Given the description of an element on the screen output the (x, y) to click on. 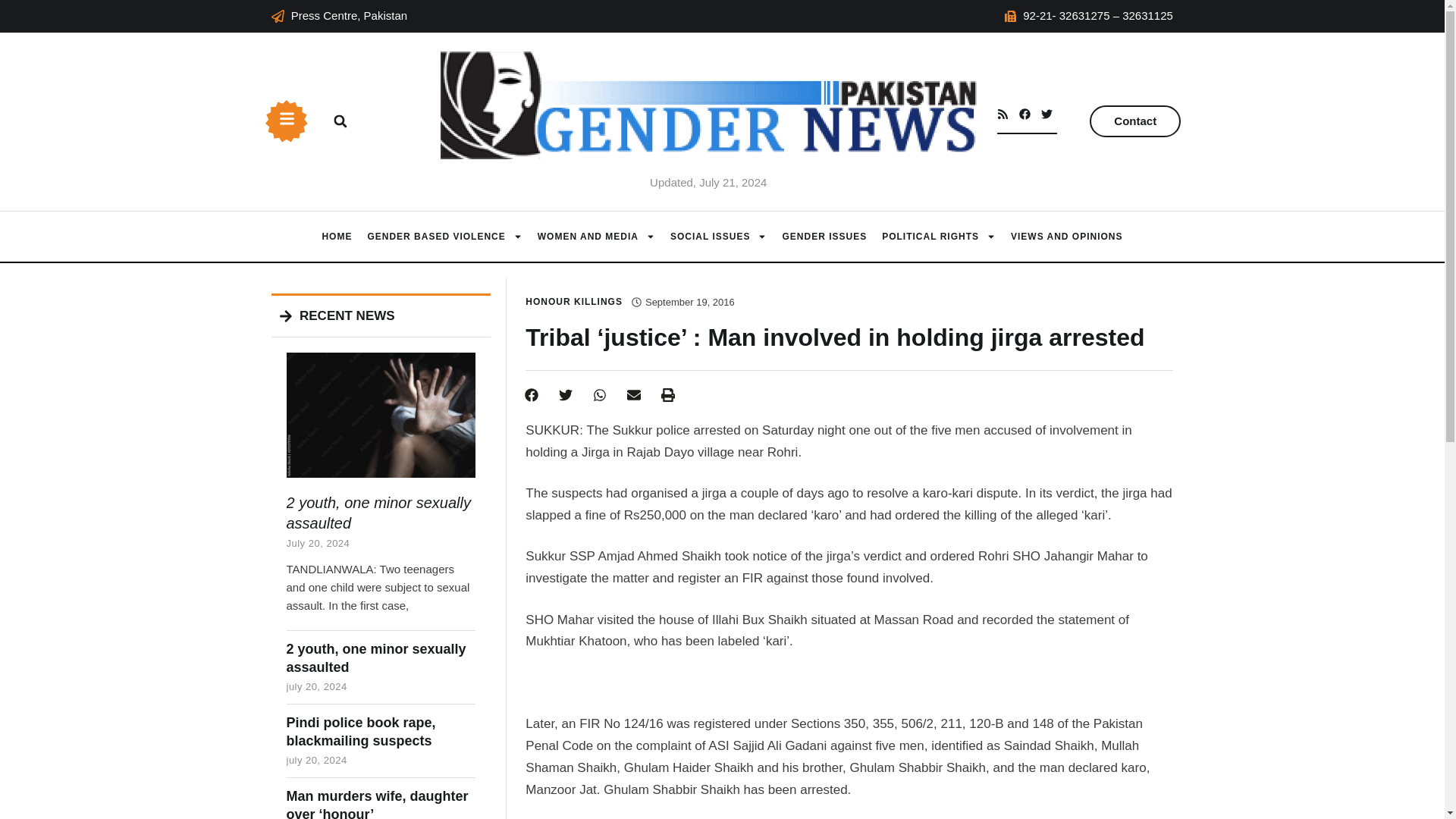
WOMEN AND MEDIA (595, 236)
Pakistan Gender News (336, 236)
Gender Based Violence (444, 236)
Contact (1134, 120)
Women and Media (595, 236)
HOME (336, 236)
VIEWS AND OPINIONS (1067, 236)
GENDER ISSUES (824, 236)
POLITICAL RIGHTS (939, 236)
Social Issues (718, 236)
Gender Issues (824, 236)
SOCIAL ISSUES (718, 236)
GENDER BASED VIOLENCE (444, 236)
